Given the description of an element on the screen output the (x, y) to click on. 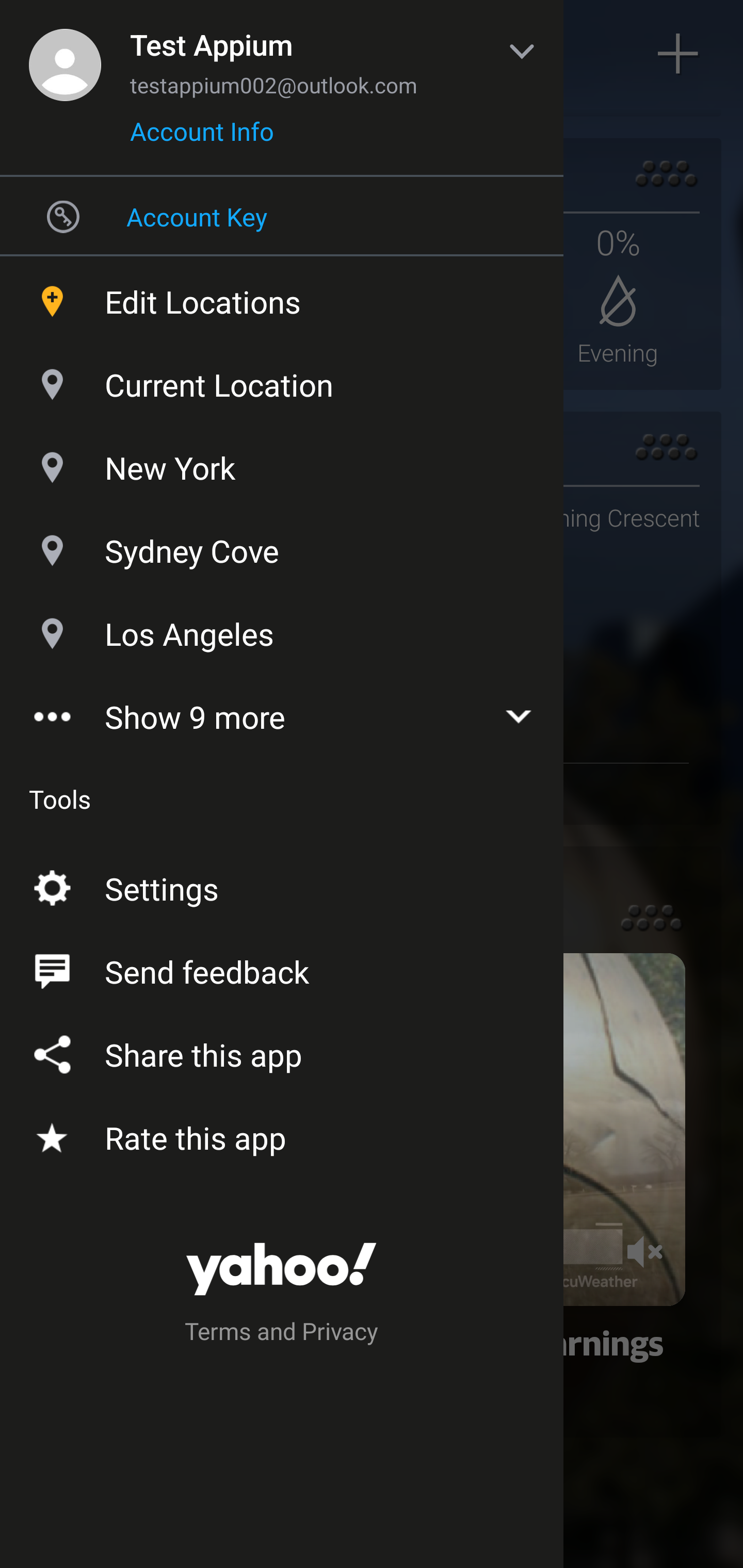
Sidebar (64, 54)
Account Info (202, 137)
Account Key (281, 216)
Edit Locations (281, 296)
Current Location (281, 379)
New York (281, 462)
Sydney Cove (281, 546)
Los Angeles (281, 629)
Settings (281, 884)
Send feedback (281, 967)
Share this app (281, 1050)
Terms and Privacy Terms and privacy button (281, 1334)
